Given the description of an element on the screen output the (x, y) to click on. 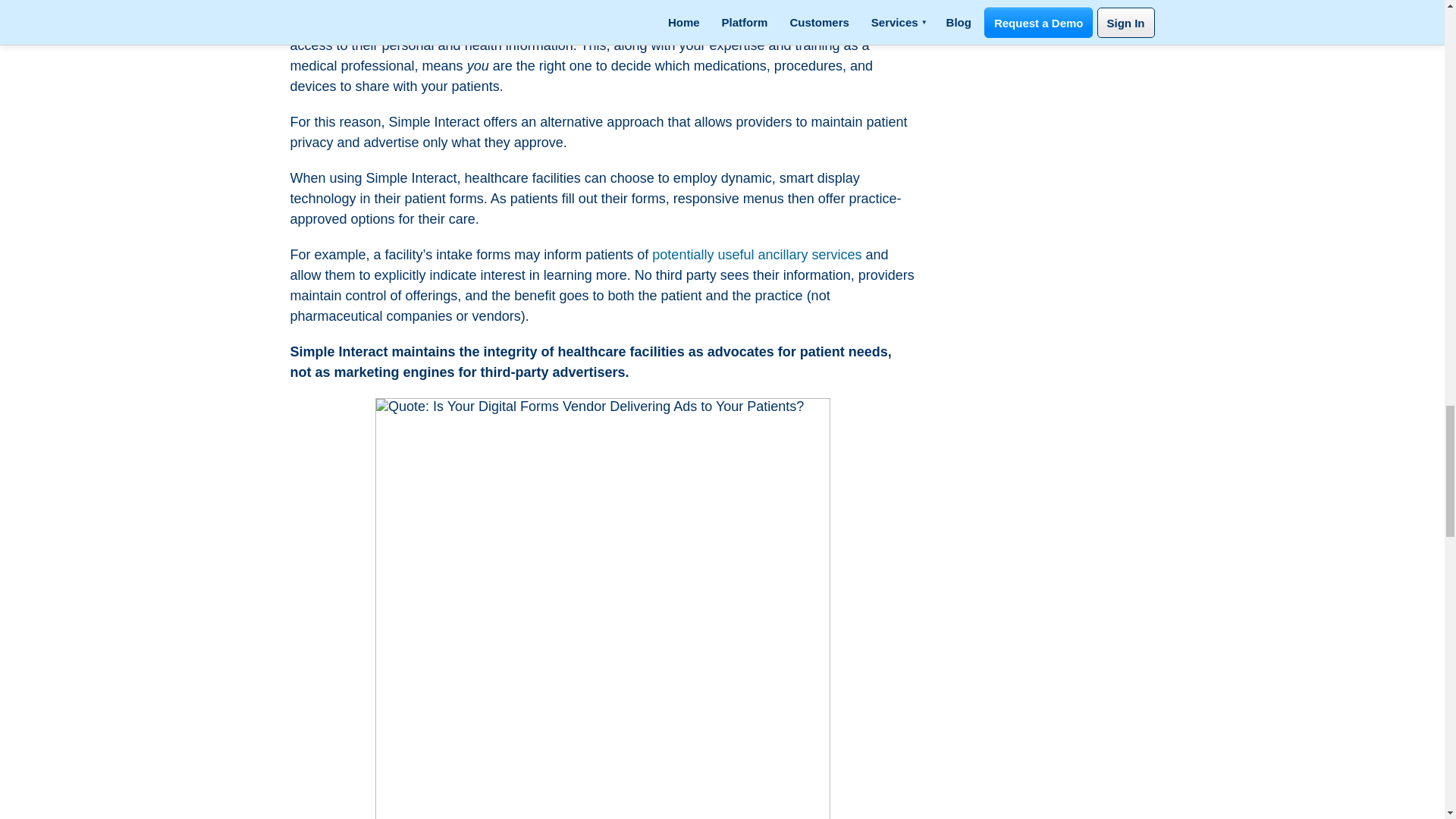
potentially useful ancillary services (756, 254)
